Given the description of an element on the screen output the (x, y) to click on. 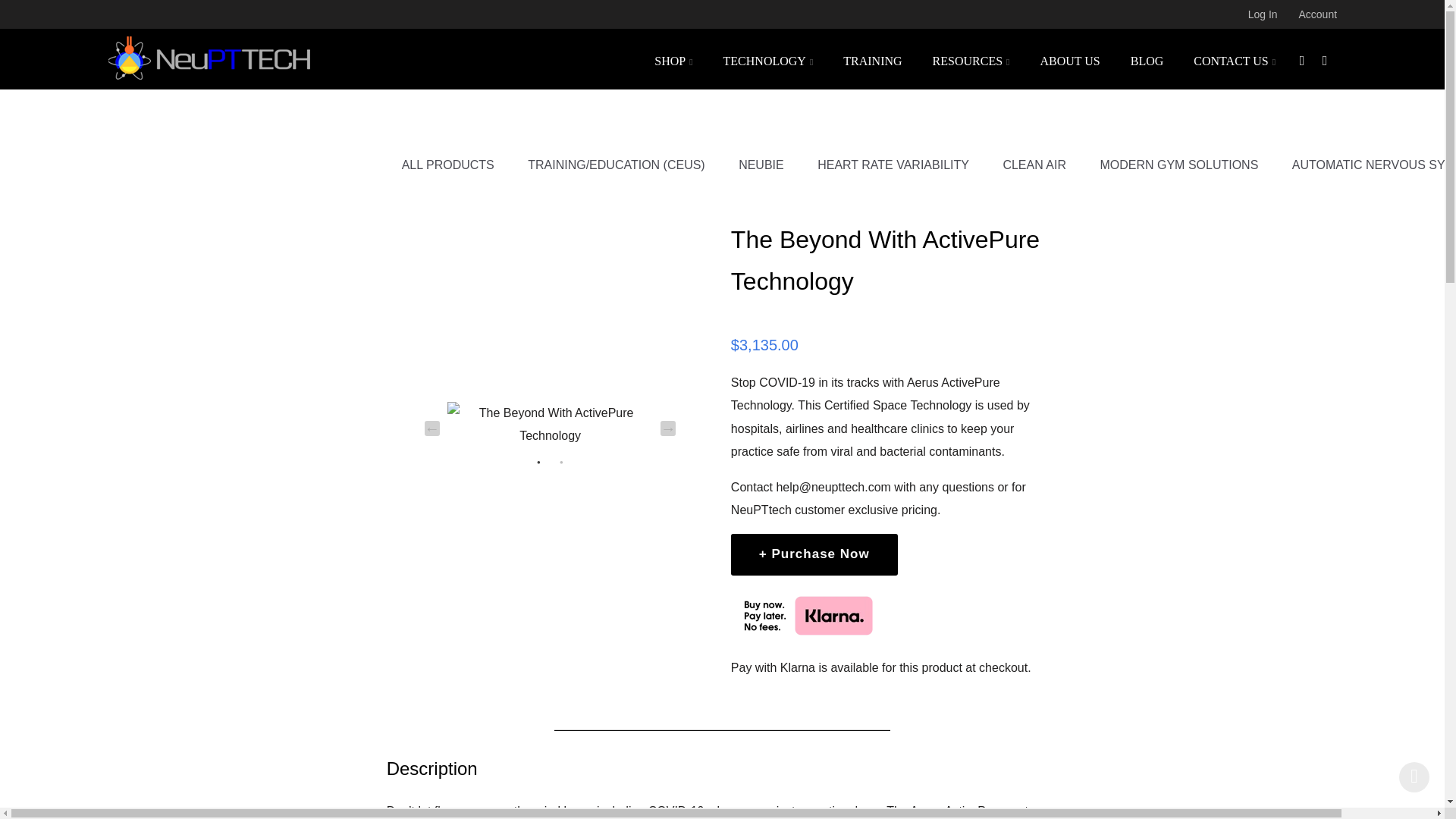
Klarna Buy Now Pay Later (806, 615)
BLOG (1147, 57)
Account (1317, 14)
The Beyond With ActivePure Technology (549, 424)
NeuPTTech (208, 57)
TRAINING (872, 57)
Log In (1262, 14)
CONTACT US (1233, 57)
ABOUT US (1070, 57)
SHOP (673, 57)
